Given the description of an element on the screen output the (x, y) to click on. 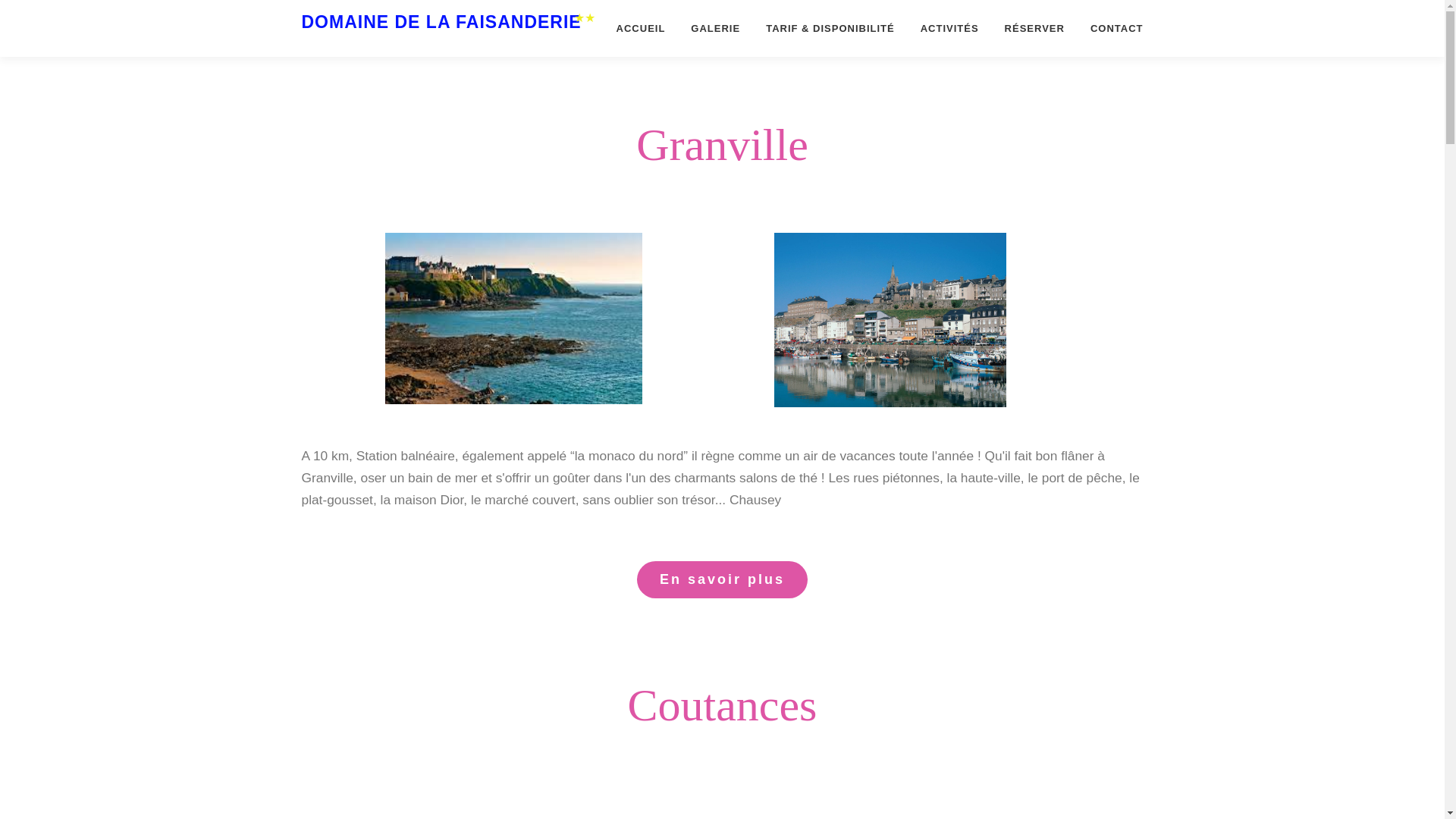
En savoir plus (722, 579)
CONTACT (1109, 28)
DOMAINE DE LA FAISANDERIE (440, 21)
ACCUEIL (641, 28)
GALERIE (715, 28)
